Given the description of an element on the screen output the (x, y) to click on. 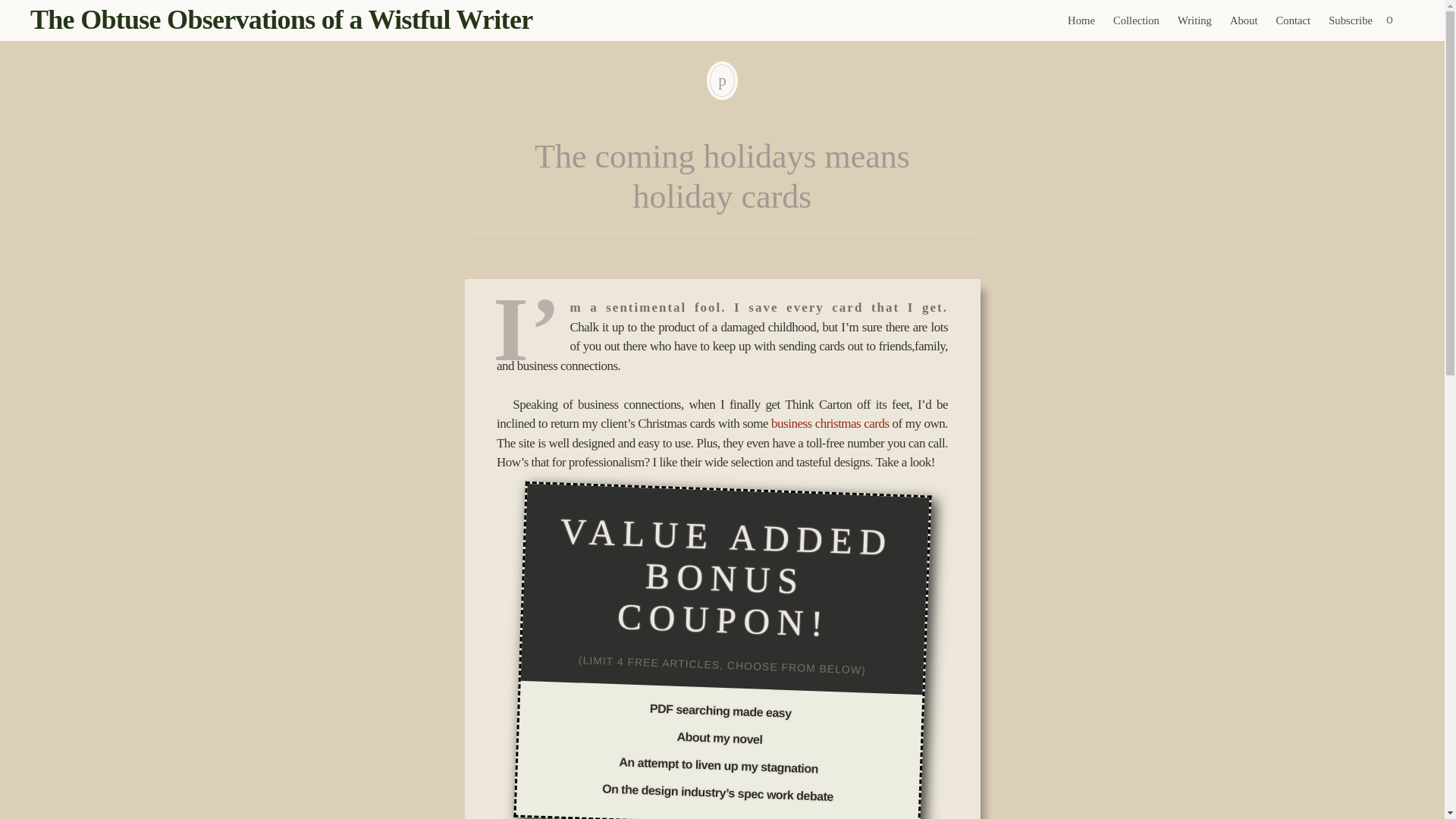
Contact (1293, 20)
Home (1080, 20)
Search (11, 9)
The Obtuse Observations of a Wistful Writer (281, 19)
Collection (1136, 20)
About (1244, 20)
An attempt to liven up my stagnation (718, 761)
The Obtuse Observations of a Wistful Writer (281, 19)
PDF searching made easy (719, 707)
Writing (1195, 20)
About my novel (719, 736)
Subscribe (1350, 20)
business christmas cards (829, 423)
